Given the description of an element on the screen output the (x, y) to click on. 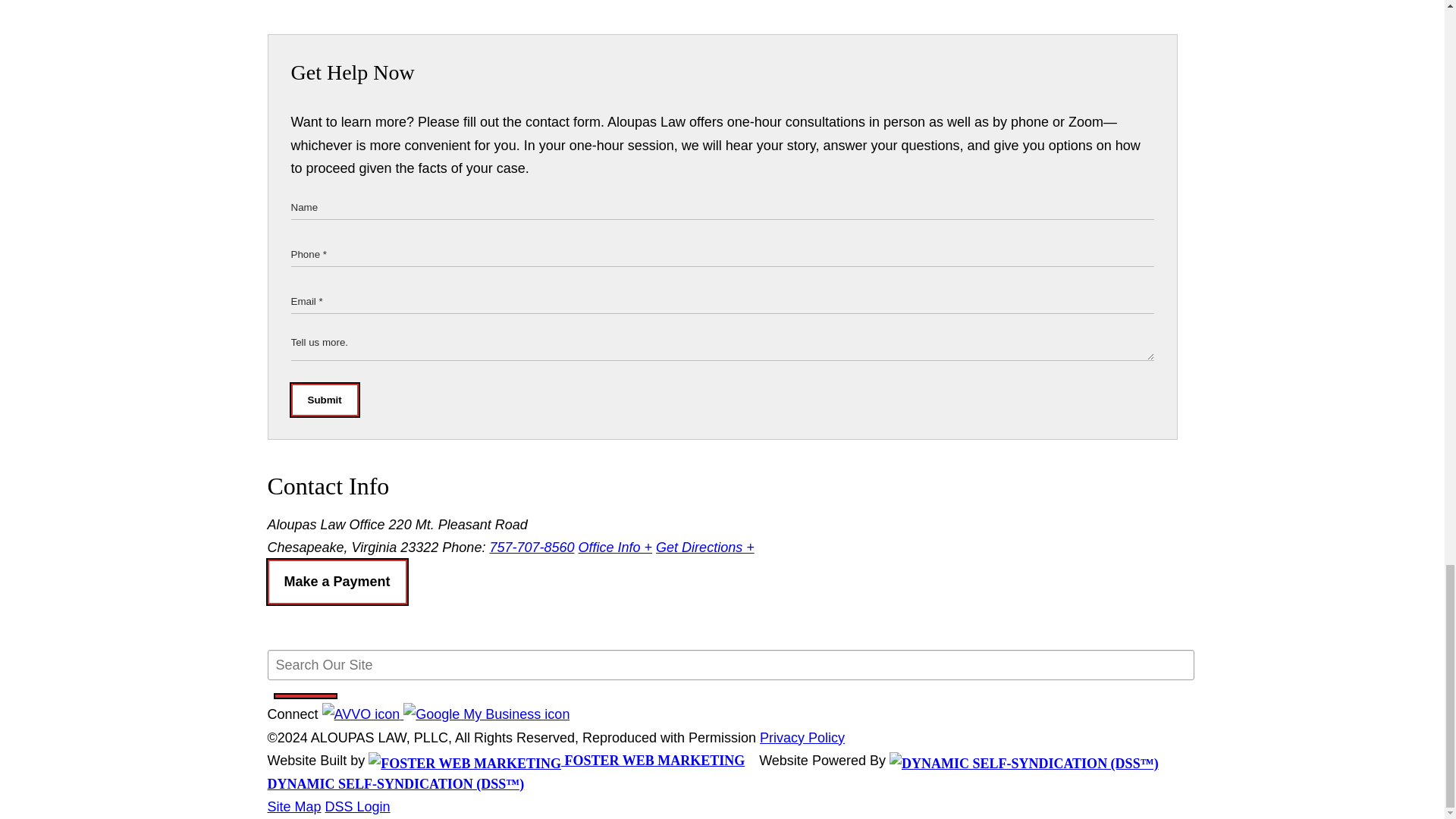
757-707-8560 (531, 547)
Make a Payment (336, 581)
Privacy Policy (802, 737)
FOSTER WEB MARKETING (556, 760)
Submit (324, 400)
Search (304, 695)
